Given the description of an element on the screen output the (x, y) to click on. 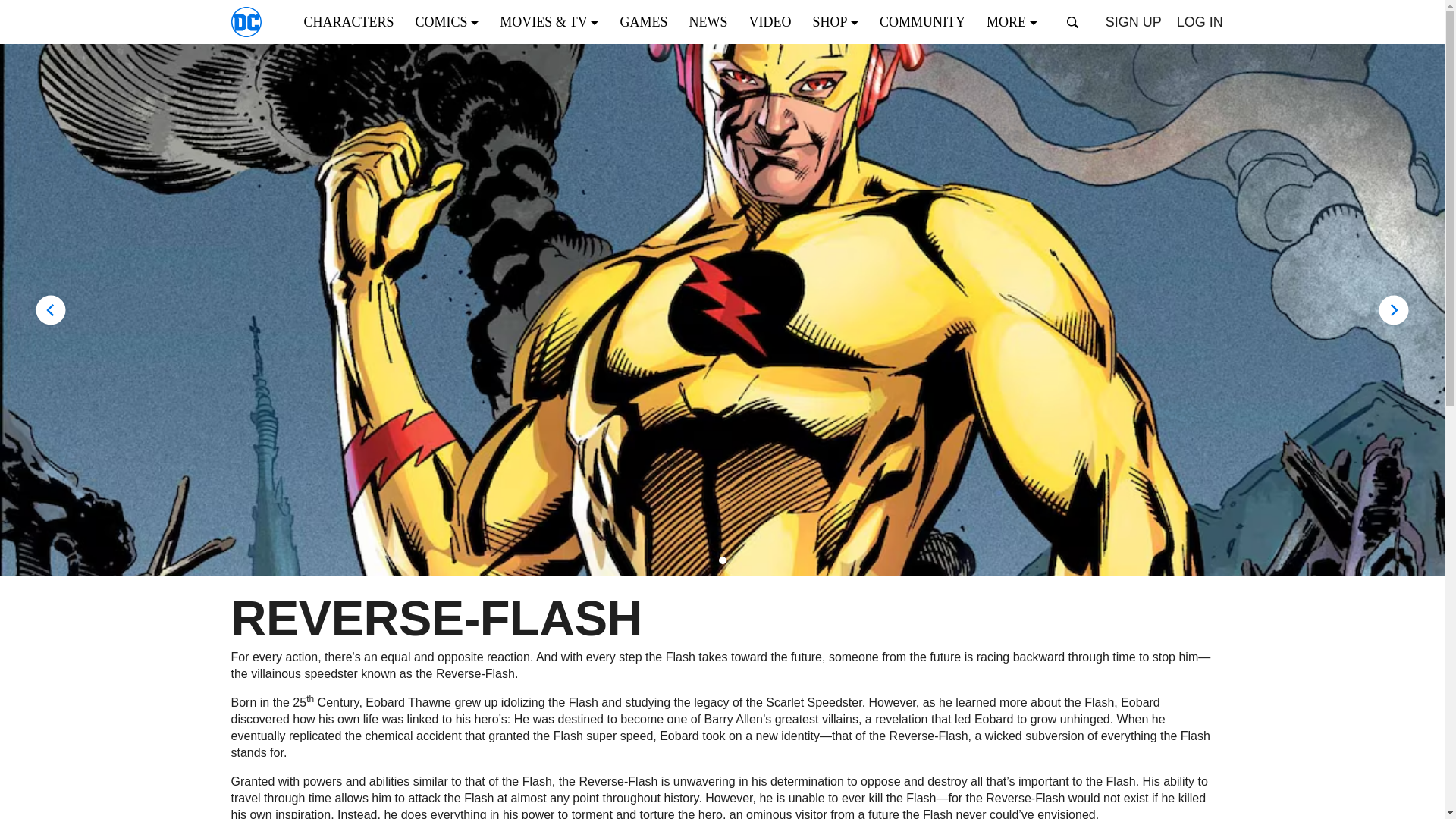
Open search (1072, 22)
CHARACTERS (353, 21)
COMICS (452, 21)
